Given the description of an element on the screen output the (x, y) to click on. 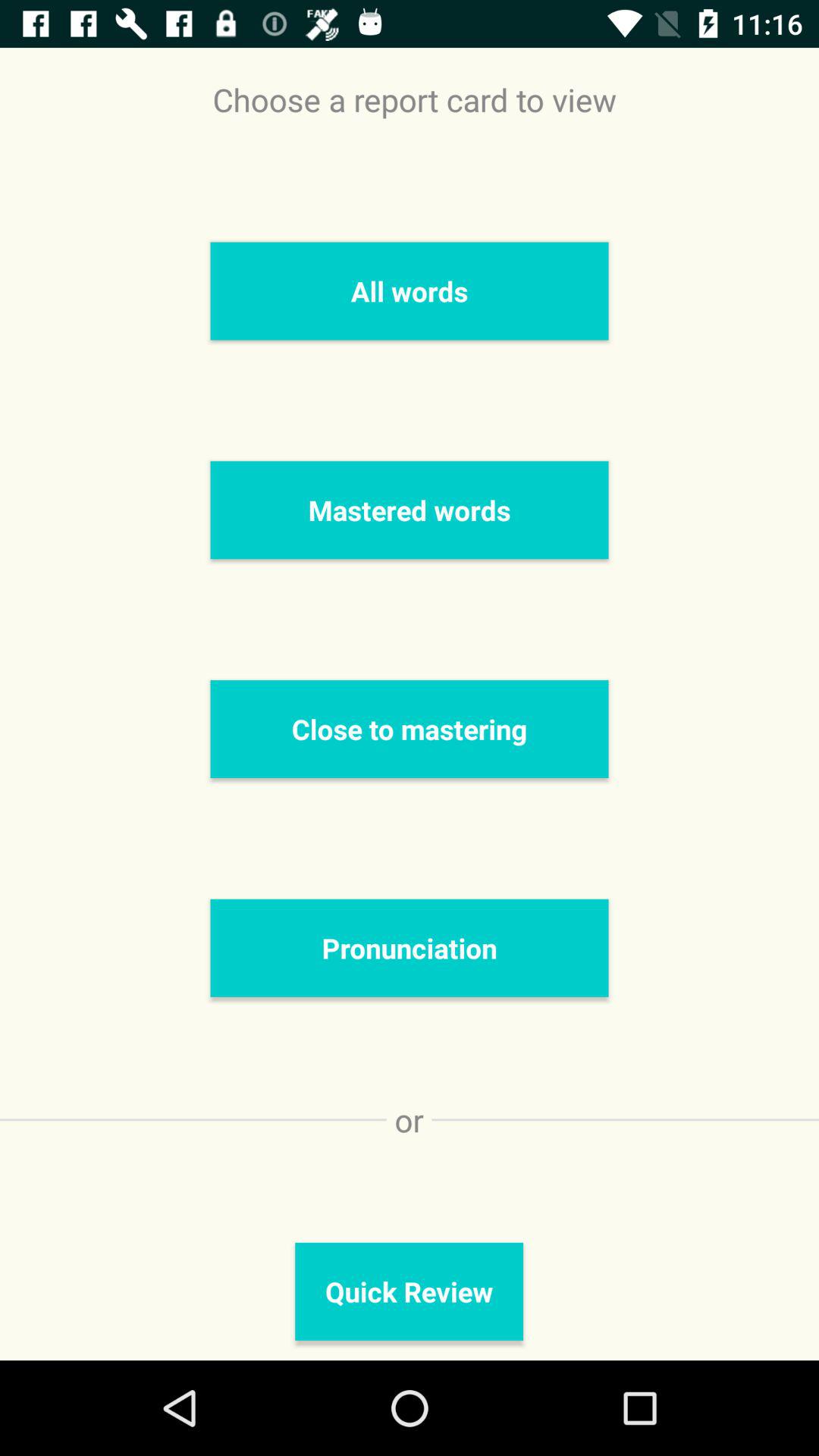
select the all words icon (409, 291)
